Given the description of an element on the screen output the (x, y) to click on. 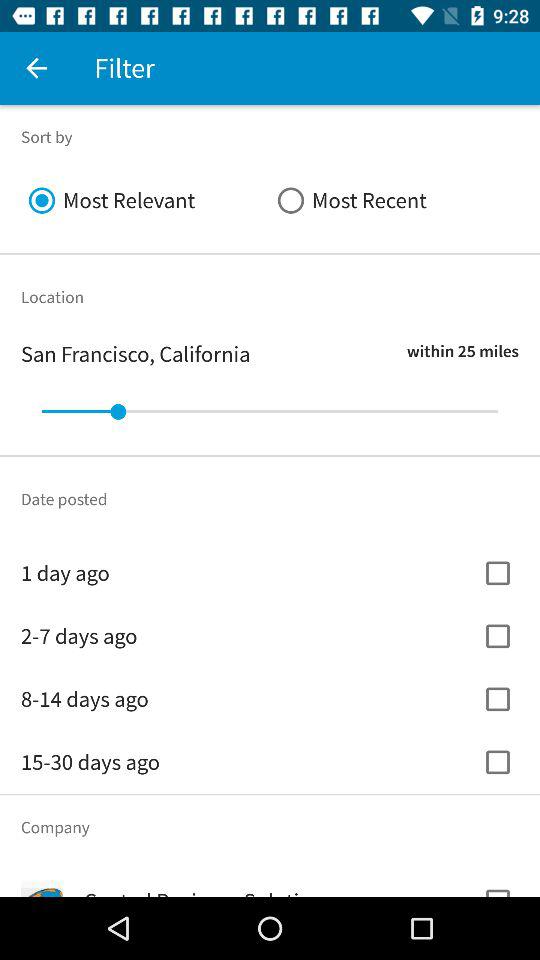
scroll until most relevant (145, 200)
